Given the description of an element on the screen output the (x, y) to click on. 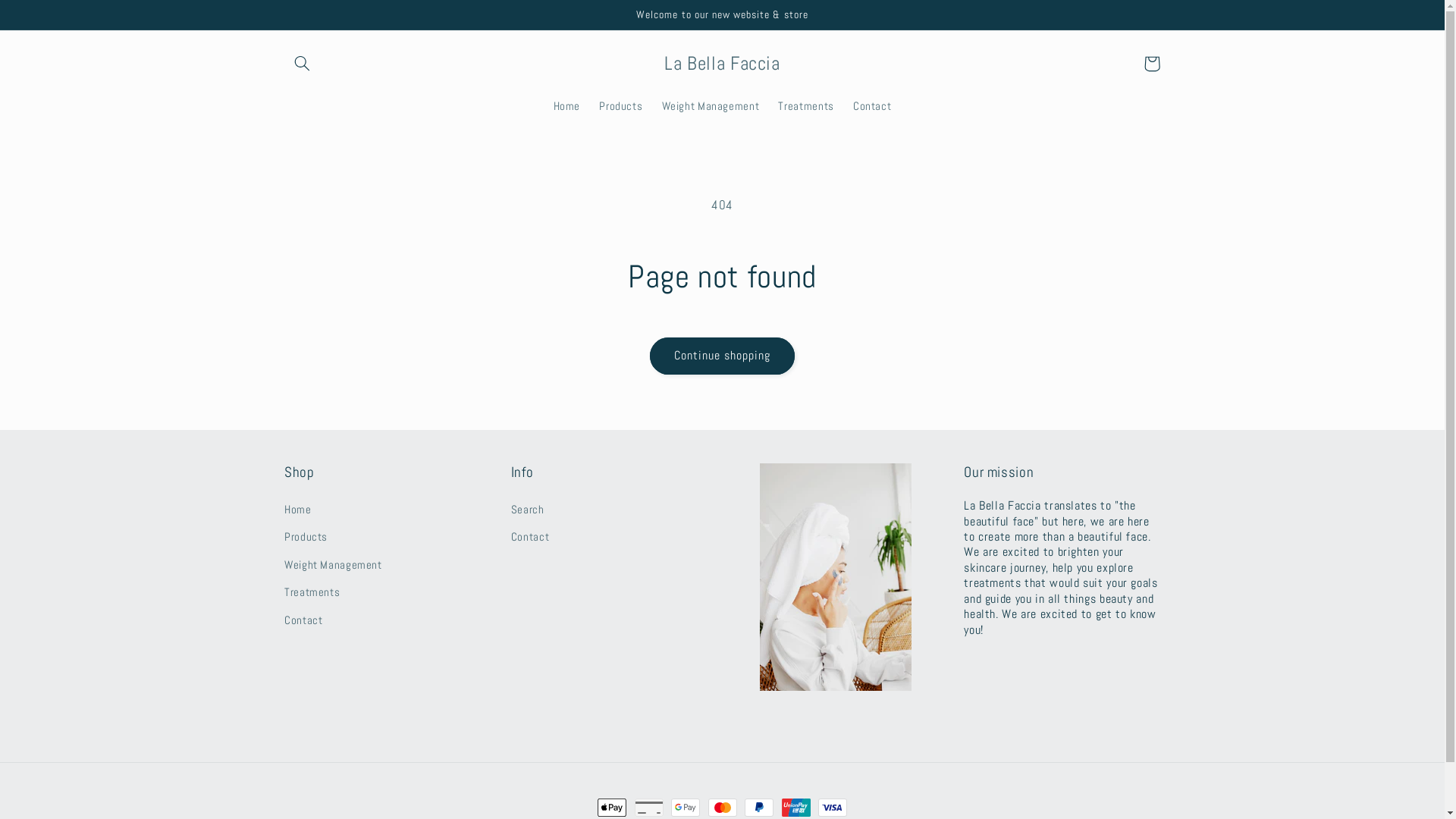
Home Element type: text (566, 105)
Treatments Element type: text (806, 105)
Search Element type: text (527, 512)
Treatments Element type: text (311, 592)
Home Element type: text (297, 512)
Products Element type: text (620, 105)
Weight Management Element type: text (333, 565)
Weight Management Element type: text (710, 105)
Contact Element type: text (871, 105)
Cart Element type: text (1151, 63)
Continue shopping Element type: text (721, 355)
La Bella Faccia Element type: text (721, 62)
Products Element type: text (305, 537)
Contact Element type: text (303, 619)
Contact Element type: text (530, 537)
